Given the description of an element on the screen output the (x, y) to click on. 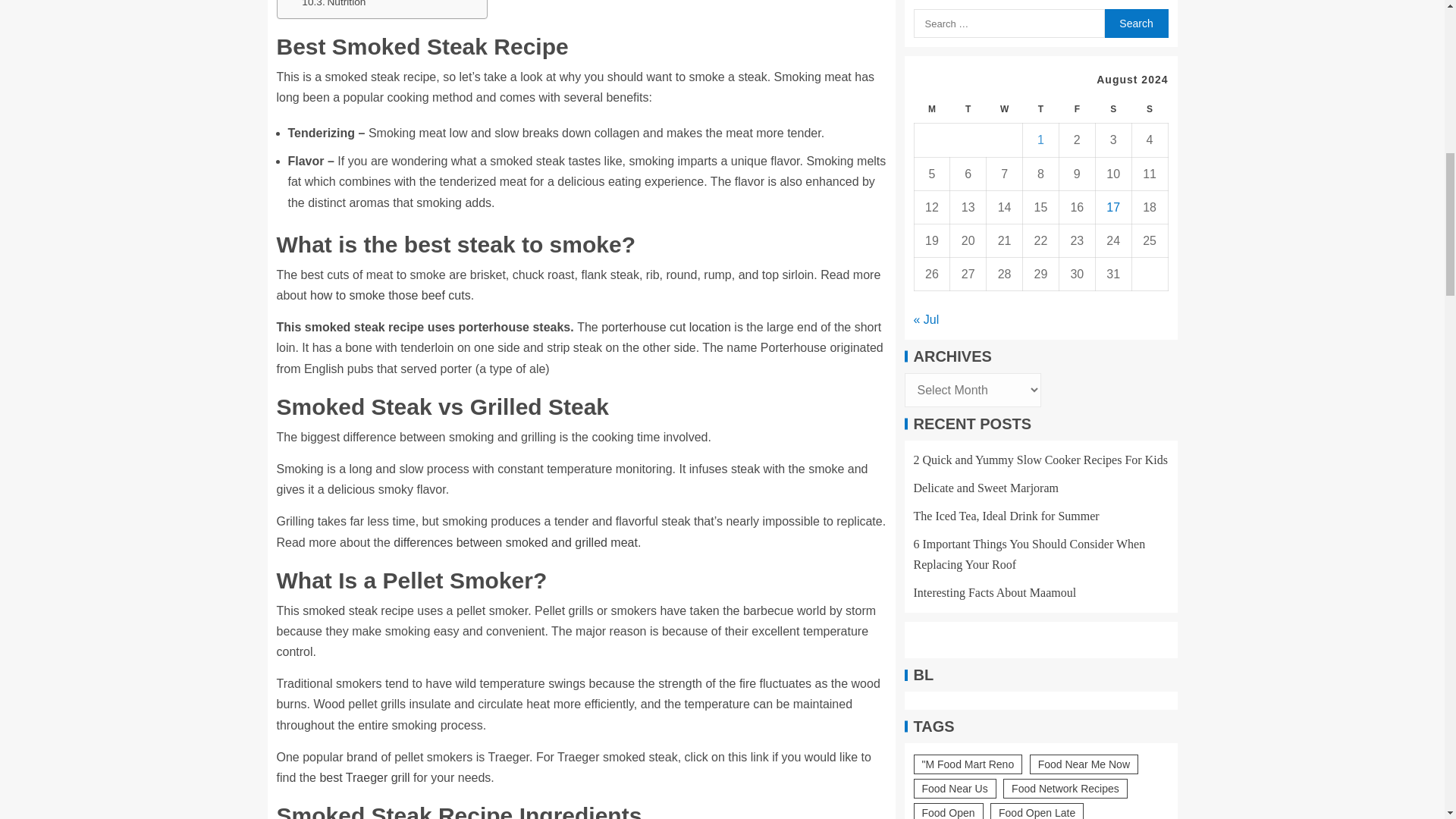
porterhouse cut location (665, 327)
differences between smoked and grilled meat (515, 542)
how to smoke those beef cuts (390, 295)
Nutrition (333, 5)
Nutrition (333, 5)
